Given the description of an element on the screen output the (x, y) to click on. 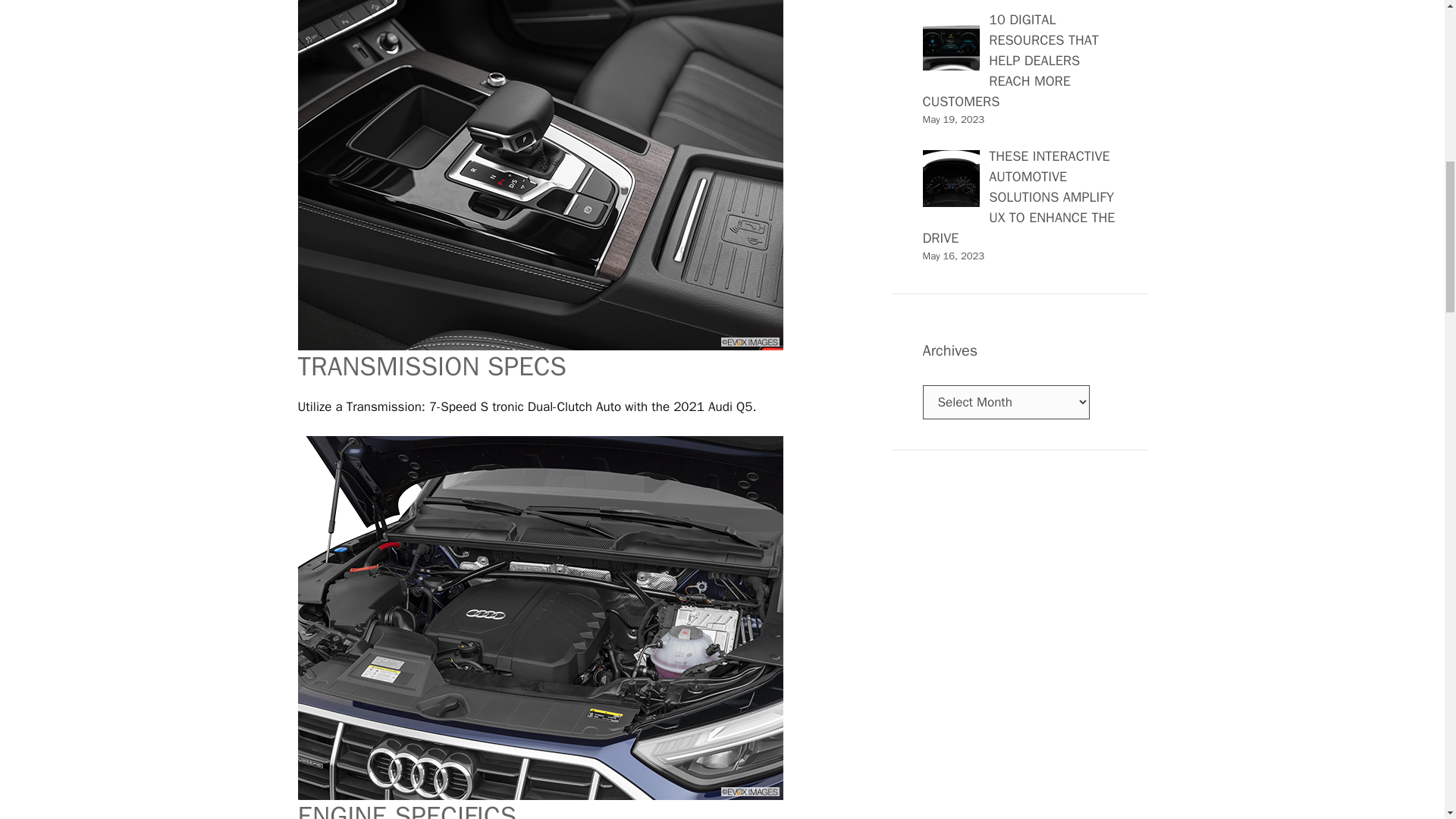
10 DIGITAL RESOURCES THAT HELP DEALERS REACH MORE CUSTOMERS (1009, 60)
